Given the description of an element on the screen output the (x, y) to click on. 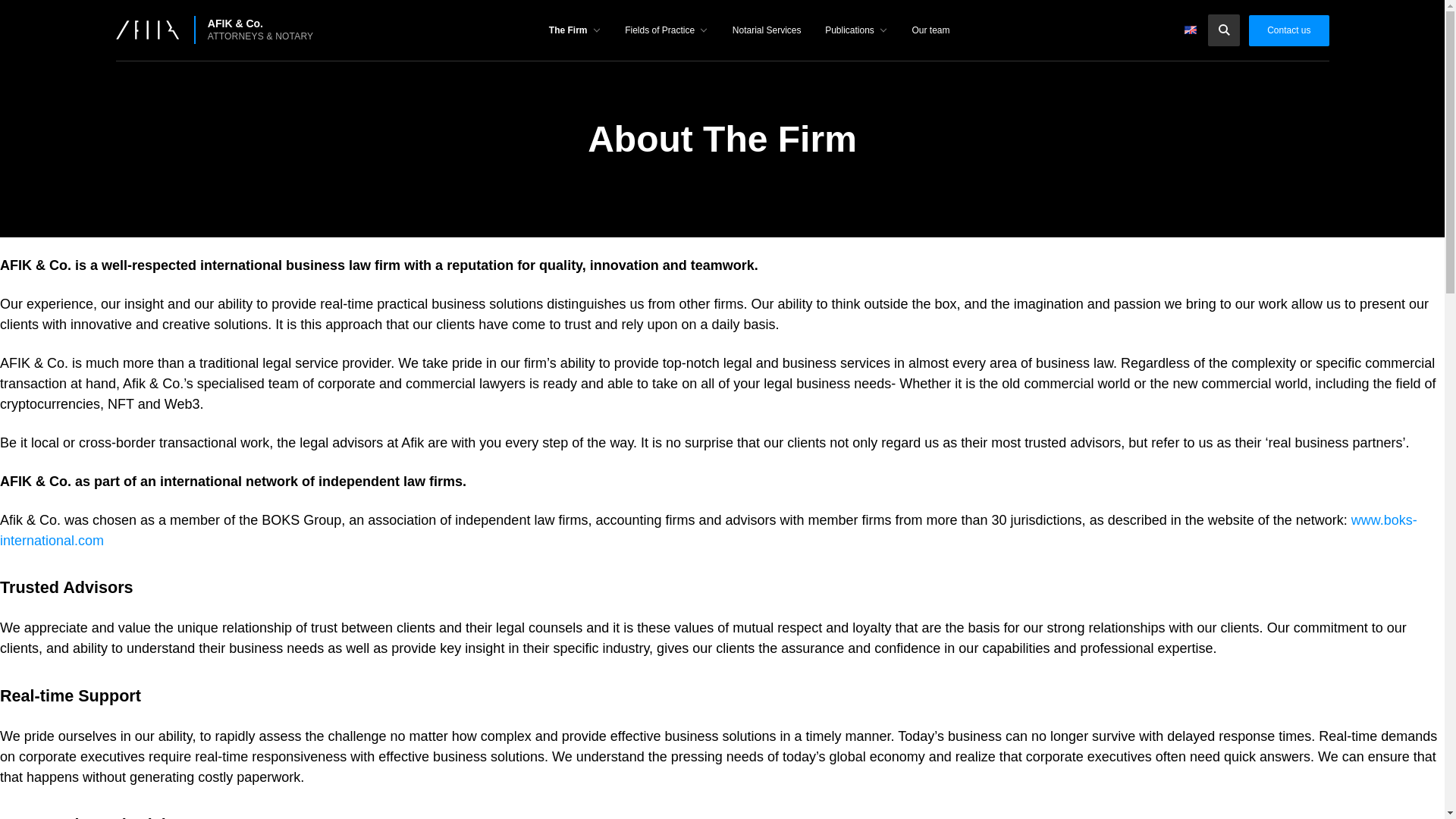
Contact us (1288, 30)
The Firm (574, 33)
Publications (855, 33)
Notarial Services (767, 33)
Fields of Practice (666, 33)
www.boks-international.com (708, 529)
